Given the description of an element on the screen output the (x, y) to click on. 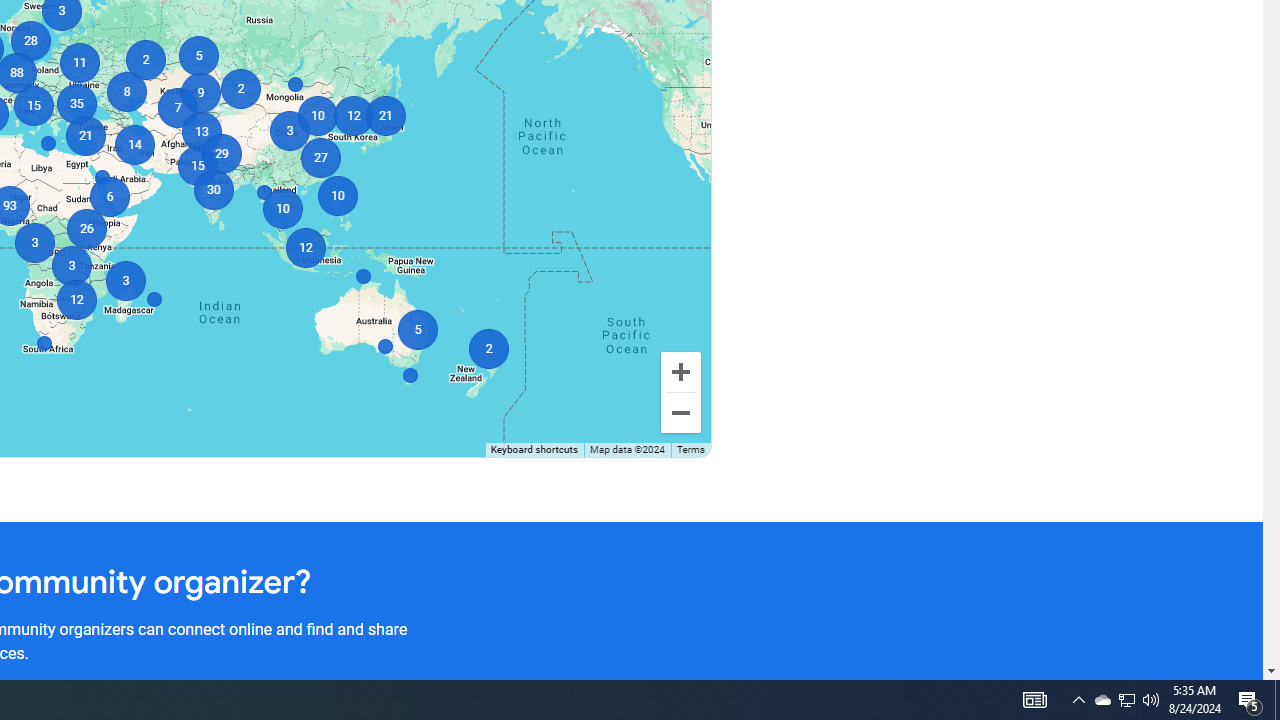
Zoom out (680, 412)
14 (133, 144)
30 (213, 189)
12 (305, 247)
2 (488, 348)
10 (316, 115)
5 (197, 56)
26 (86, 228)
Keyboard shortcuts (534, 449)
6 (109, 196)
15 (32, 105)
Zoom in (680, 371)
13 (200, 131)
27 (319, 157)
